Given the description of an element on the screen output the (x, y) to click on. 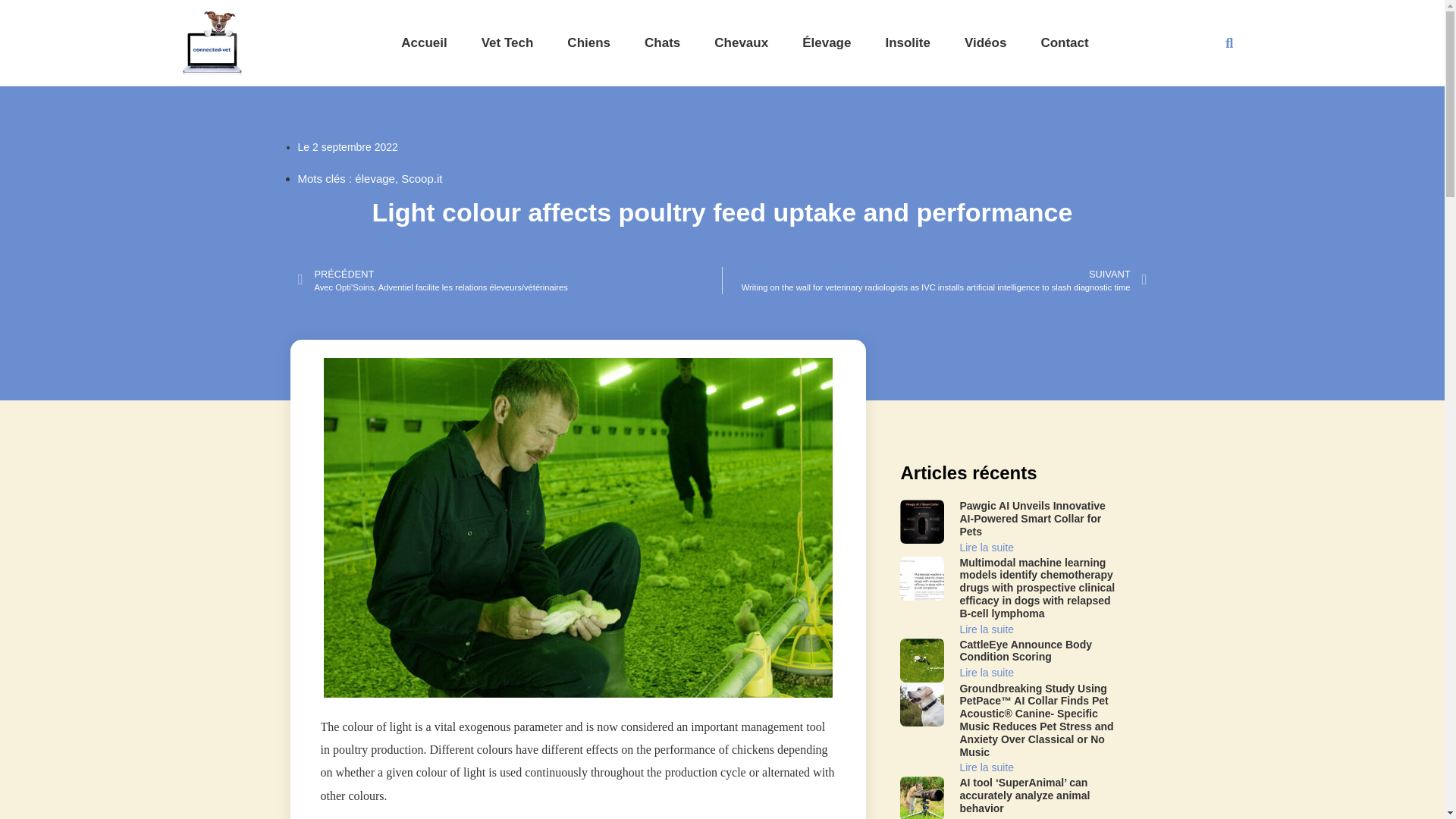
Chevaux (741, 42)
Accueil (423, 42)
Contact (1064, 42)
Insolite (907, 42)
Vet Tech (507, 42)
Chats (662, 42)
Chiens (588, 42)
